Given the description of an element on the screen output the (x, y) to click on. 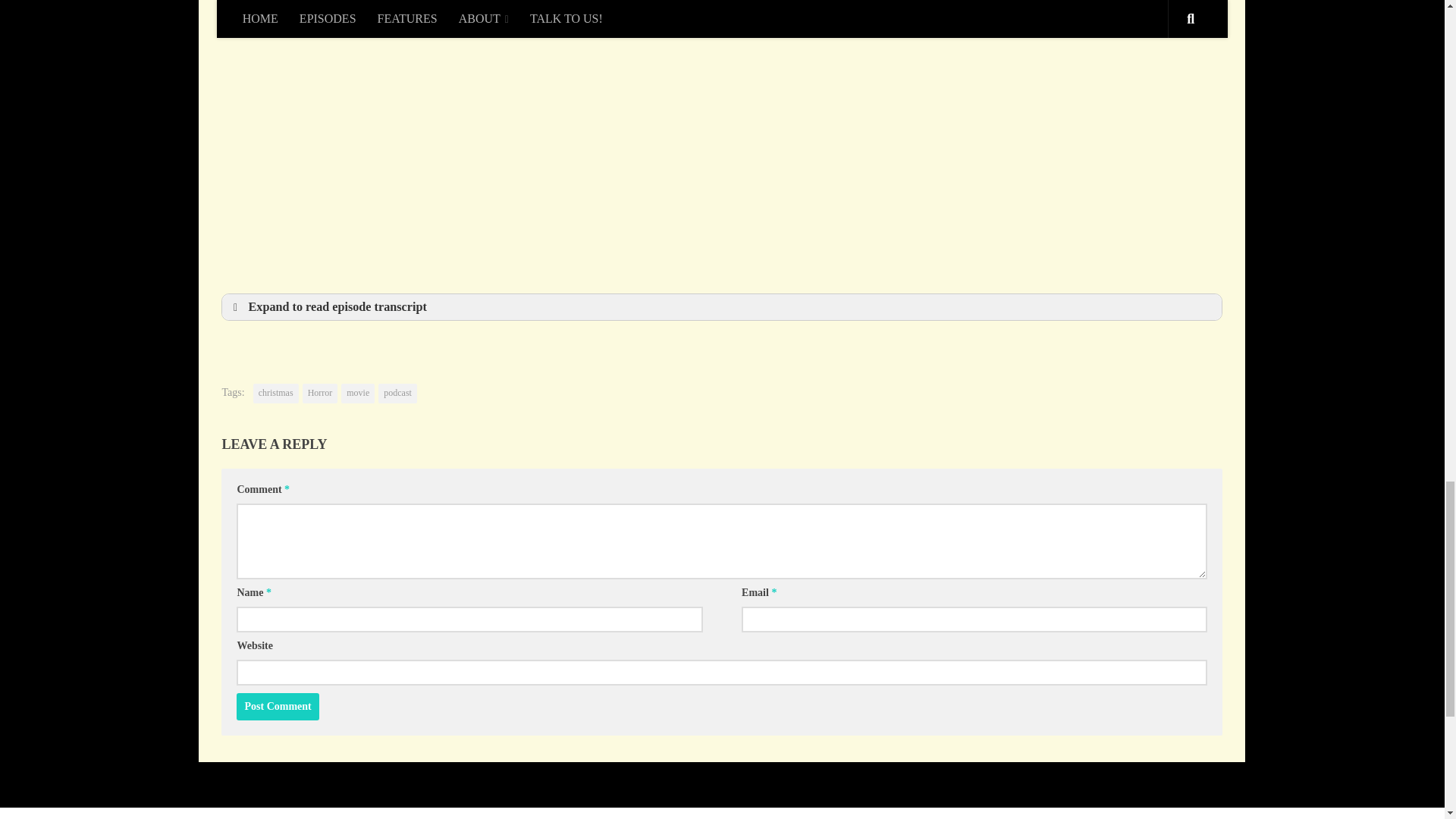
christmas (275, 393)
podcast (397, 393)
Post Comment (276, 706)
movie (357, 393)
Horror (319, 393)
Post Comment (276, 706)
